Given the description of an element on the screen output the (x, y) to click on. 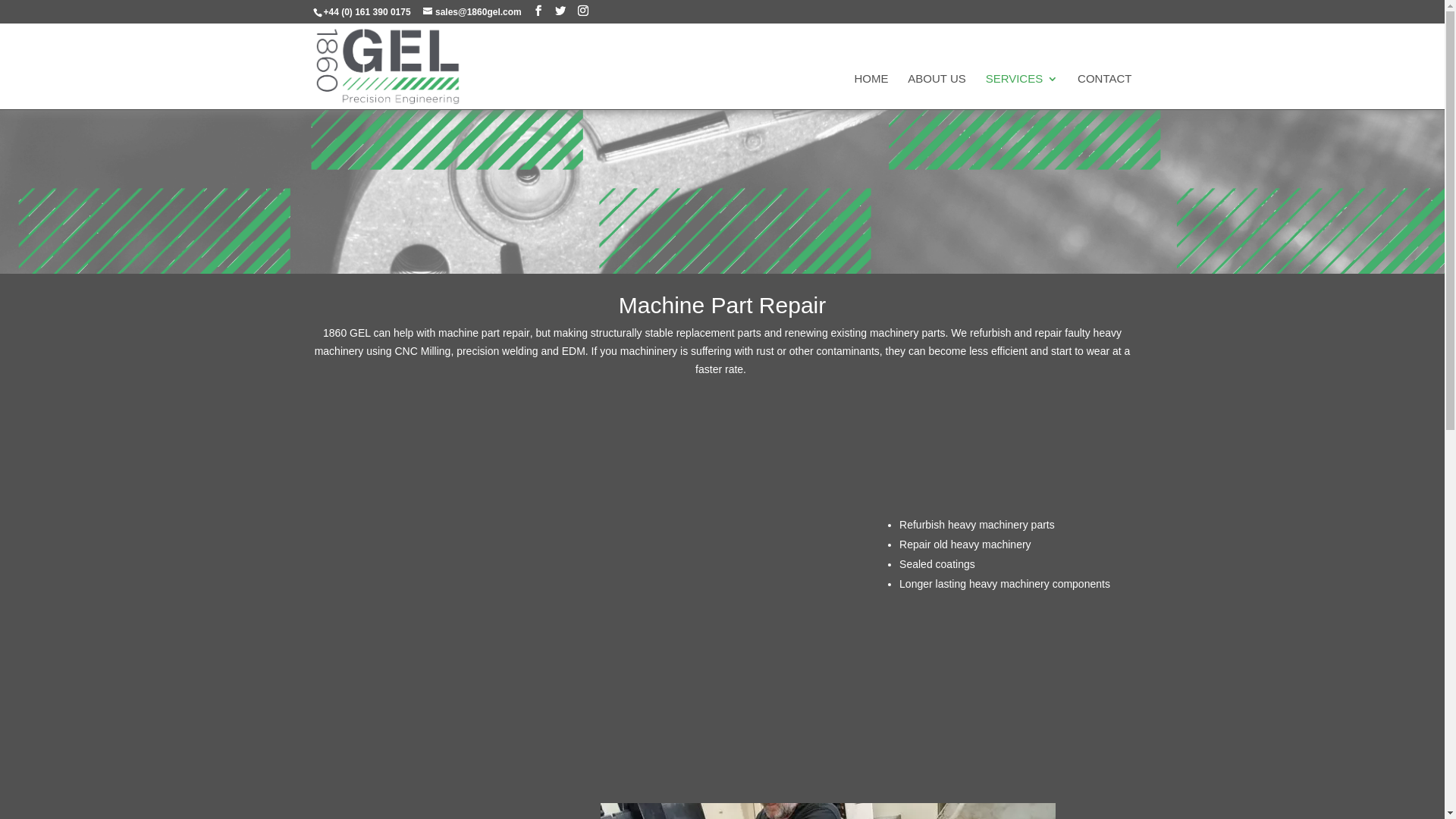
SERVICES Element type: text (1021, 91)
sales@1860gel.com Element type: text (472, 11)
CONTACT Element type: text (1104, 91)
HOME Element type: text (870, 91)
ABOUT US Element type: text (936, 91)
